Given the description of an element on the screen output the (x, y) to click on. 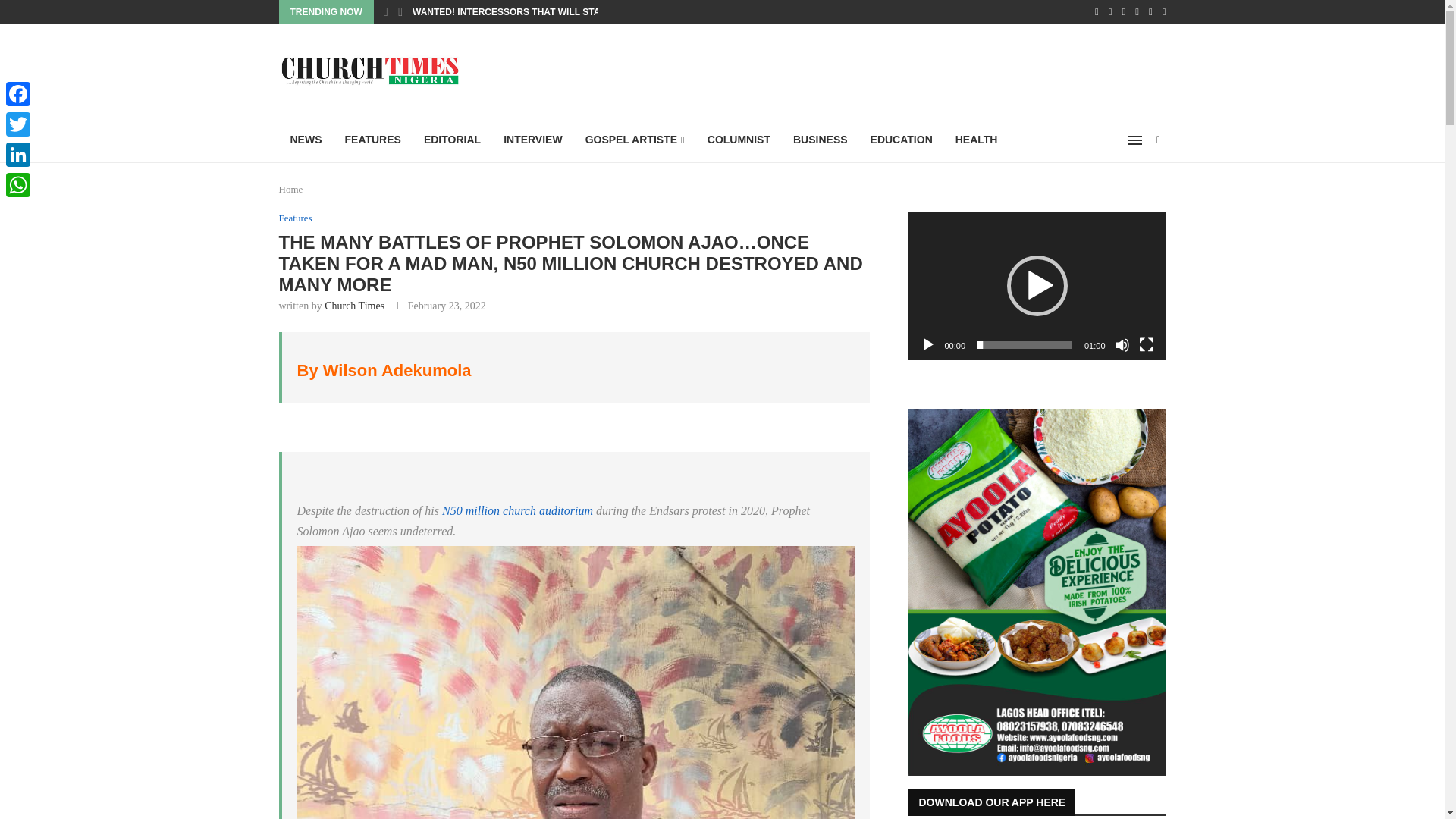
COLUMNIST (738, 139)
BUSINESS (820, 139)
WANTED! INTERCESSORS THAT WILL STAND IN GAP FOR... (544, 12)
EDUCATION (901, 139)
EDITORIAL (452, 139)
NEWS (306, 139)
FEATURES (372, 139)
HEALTH (976, 139)
INTERVIEW (532, 139)
GOSPEL ARTISTE (634, 139)
